Given the description of an element on the screen output the (x, y) to click on. 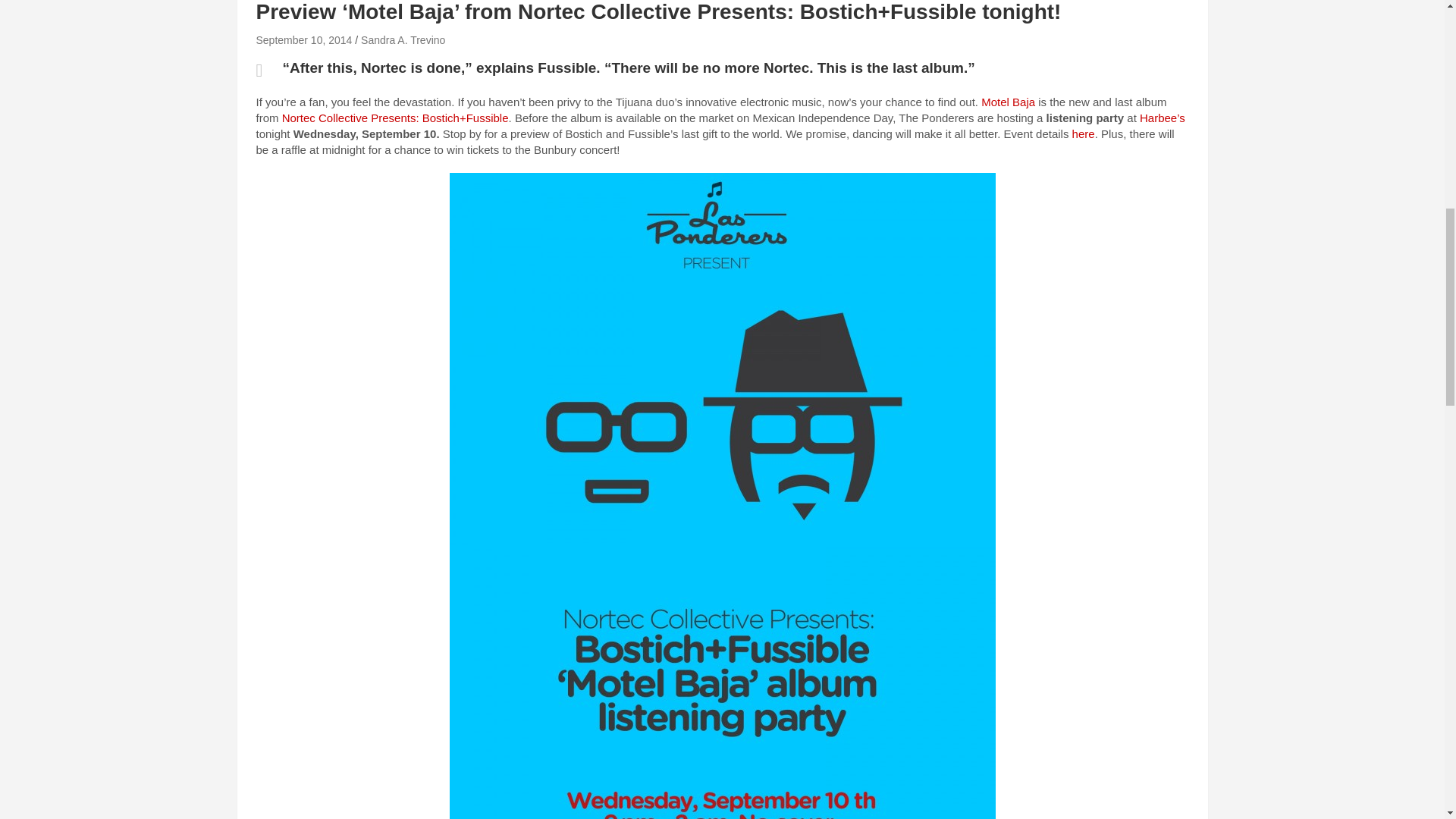
September 10, 2014 (304, 39)
Motel Baja (1008, 101)
here (1082, 133)
Sandra A. Trevino (403, 39)
